Given the description of an element on the screen output the (x, y) to click on. 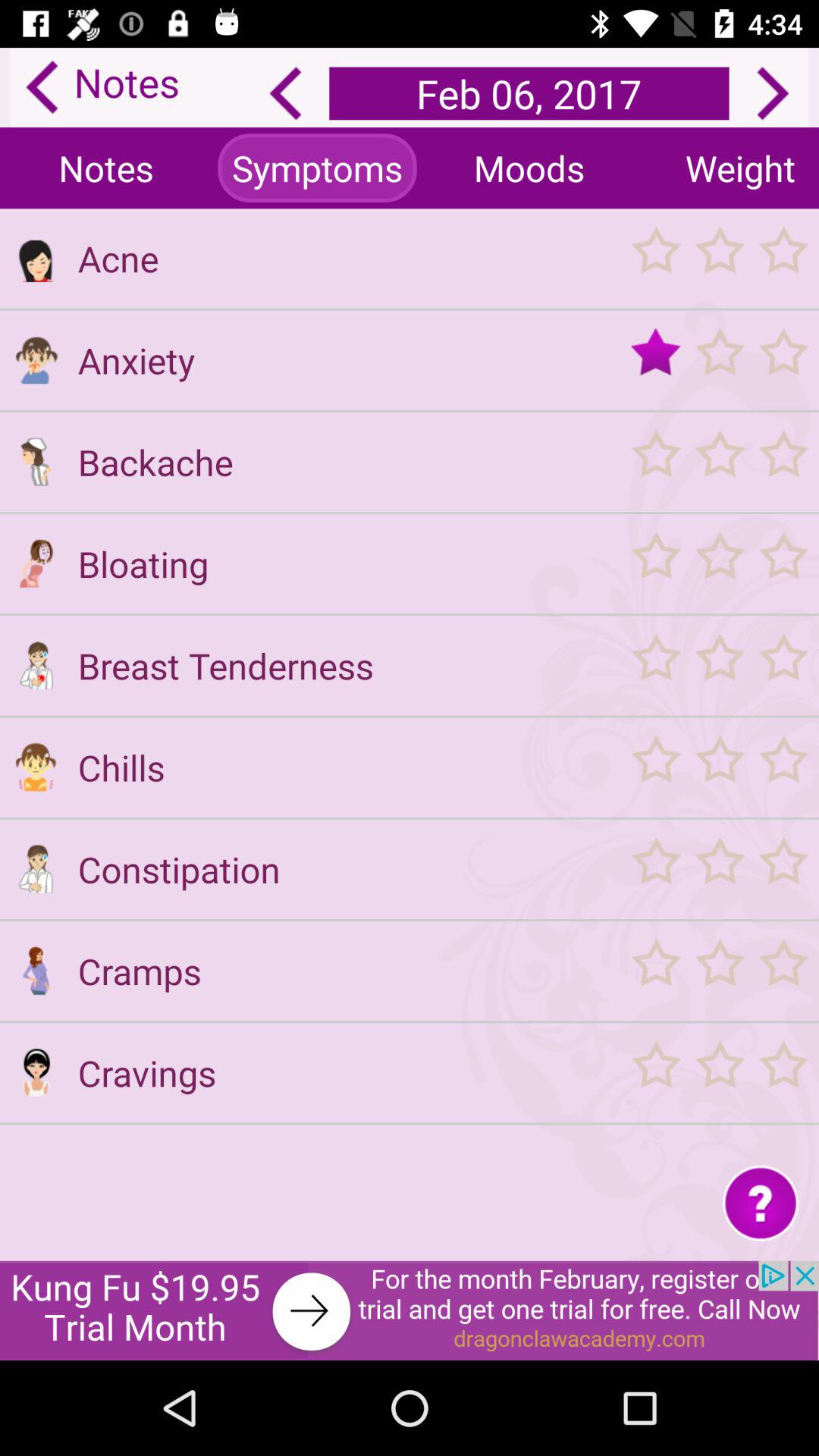
setting page (35, 563)
